Given the description of an element on the screen output the (x, y) to click on. 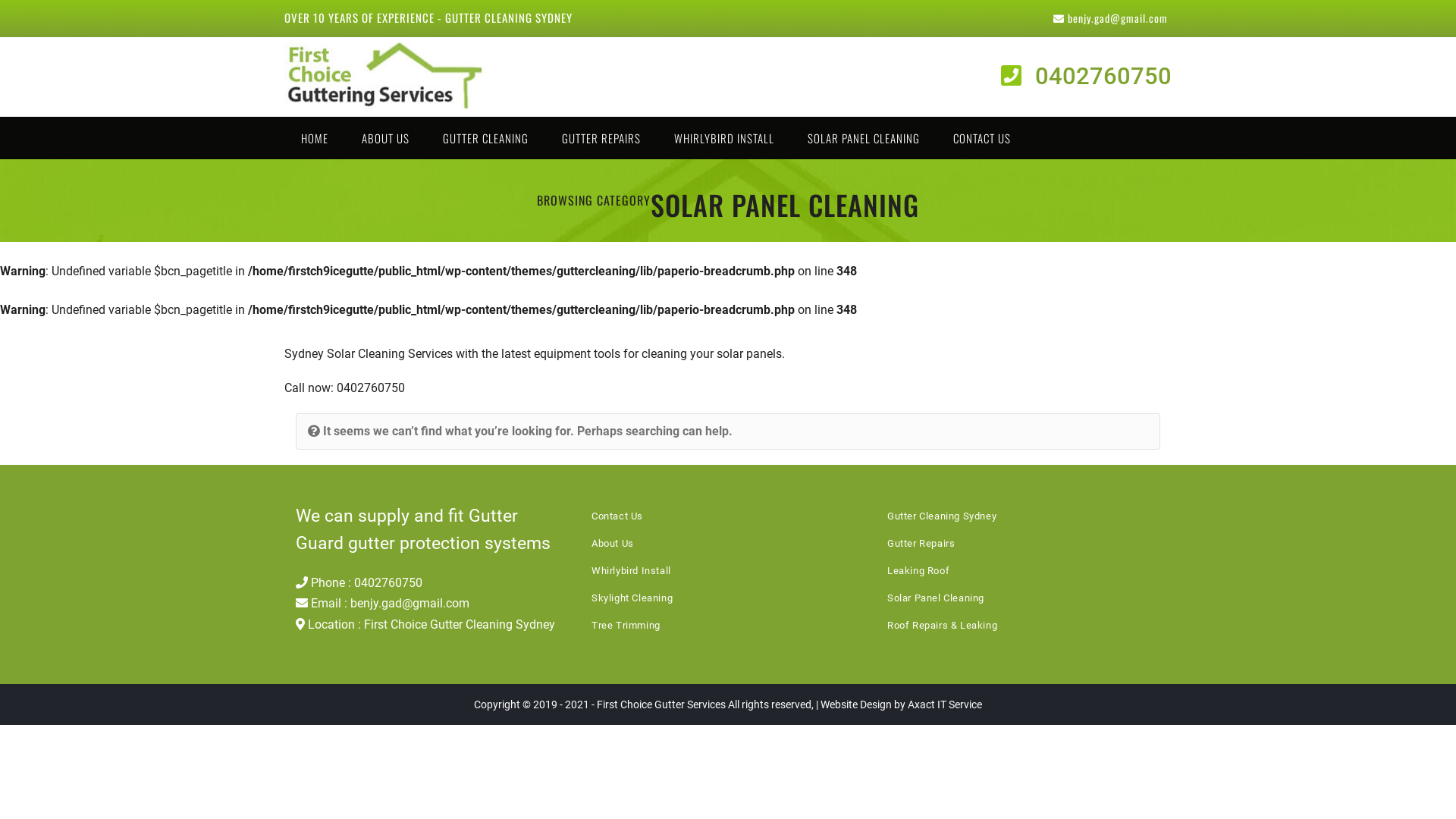
Website Design Element type: text (855, 704)
Whirlybird Install Element type: text (631, 570)
Email : benjy.gad@gmail.com Element type: text (382, 603)
benjy.gad@gmail.com Element type: text (1110, 17)
Gutter Cleaning Sydney Element type: hover (385, 76)
GUTTER CLEANING SYDNEY Element type: text (508, 17)
CONTACT US Element type: text (981, 137)
Axact IT Service Element type: text (944, 704)
Gutter Repairs Element type: text (920, 543)
First Choice Gutter Services Element type: text (660, 704)
Gutter Cleaning Sydney Element type: text (941, 515)
Tree Trimming Element type: text (625, 624)
Phone : 0402760750 Element type: text (358, 582)
GUTTER CLEANING Element type: text (485, 137)
0402760750 Element type: text (1086, 76)
WHIRLYBIRD INSTALL Element type: text (723, 137)
Contact Us Element type: text (617, 515)
Location : First Choice Gutter Cleaning Sydney Element type: text (425, 624)
About Us Element type: text (612, 543)
SOLAR PANEL CLEANING Element type: text (863, 137)
Skylight Cleaning Element type: text (631, 597)
Home Element type: text (312, 331)
Solar Panel Cleaning Element type: text (935, 597)
GUTTER REPAIRS Element type: text (601, 137)
Roof Repairs & Leaking Element type: text (942, 624)
ABOUT US Element type: text (385, 137)
Leaking Roof Element type: text (918, 570)
HOME Element type: text (314, 137)
